Given the description of an element on the screen output the (x, y) to click on. 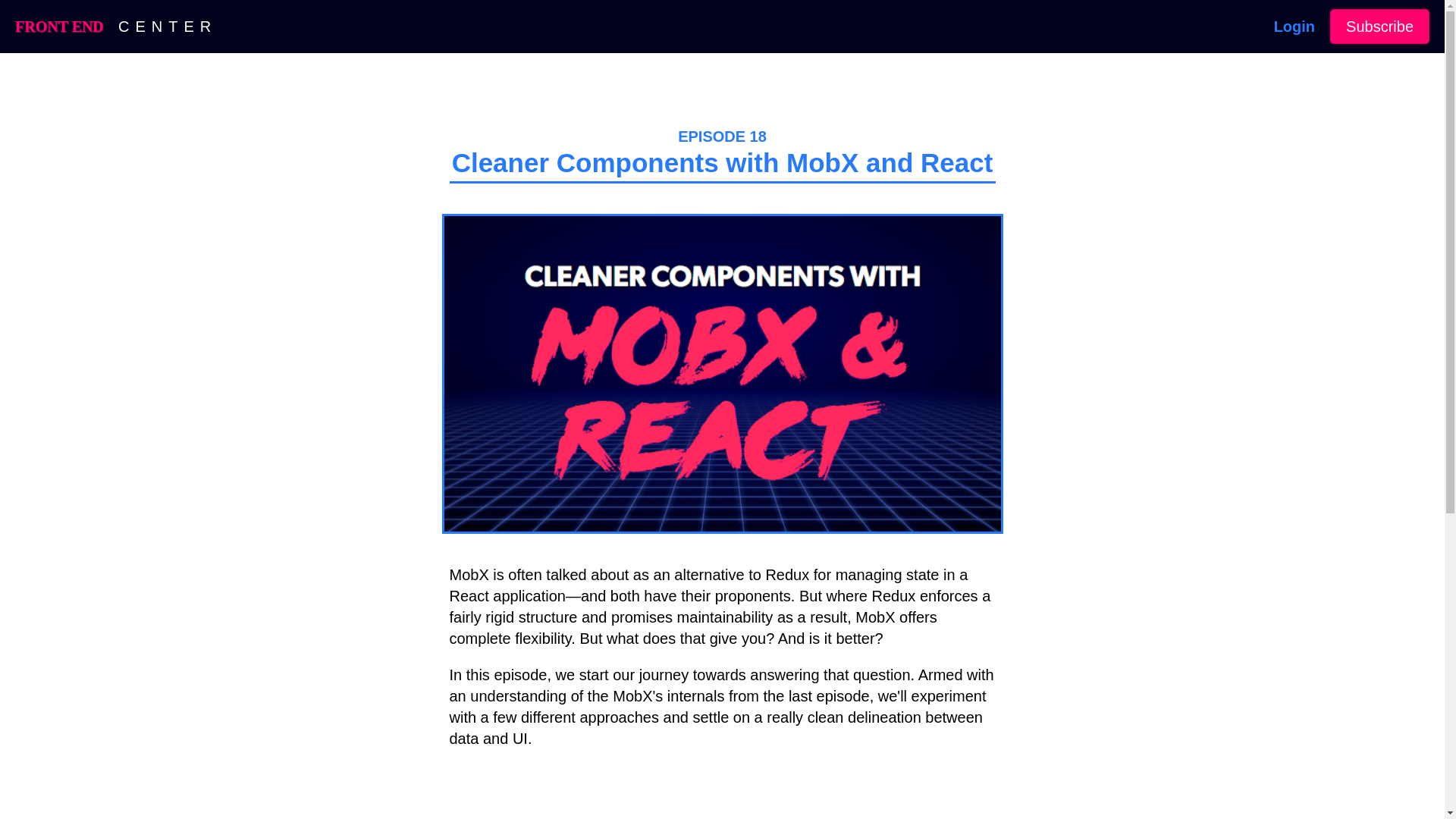
Login (1294, 26)
Subscribe (1379, 26)
FRONT ENDCENTER (115, 26)
